Given the description of an element on the screen output the (x, y) to click on. 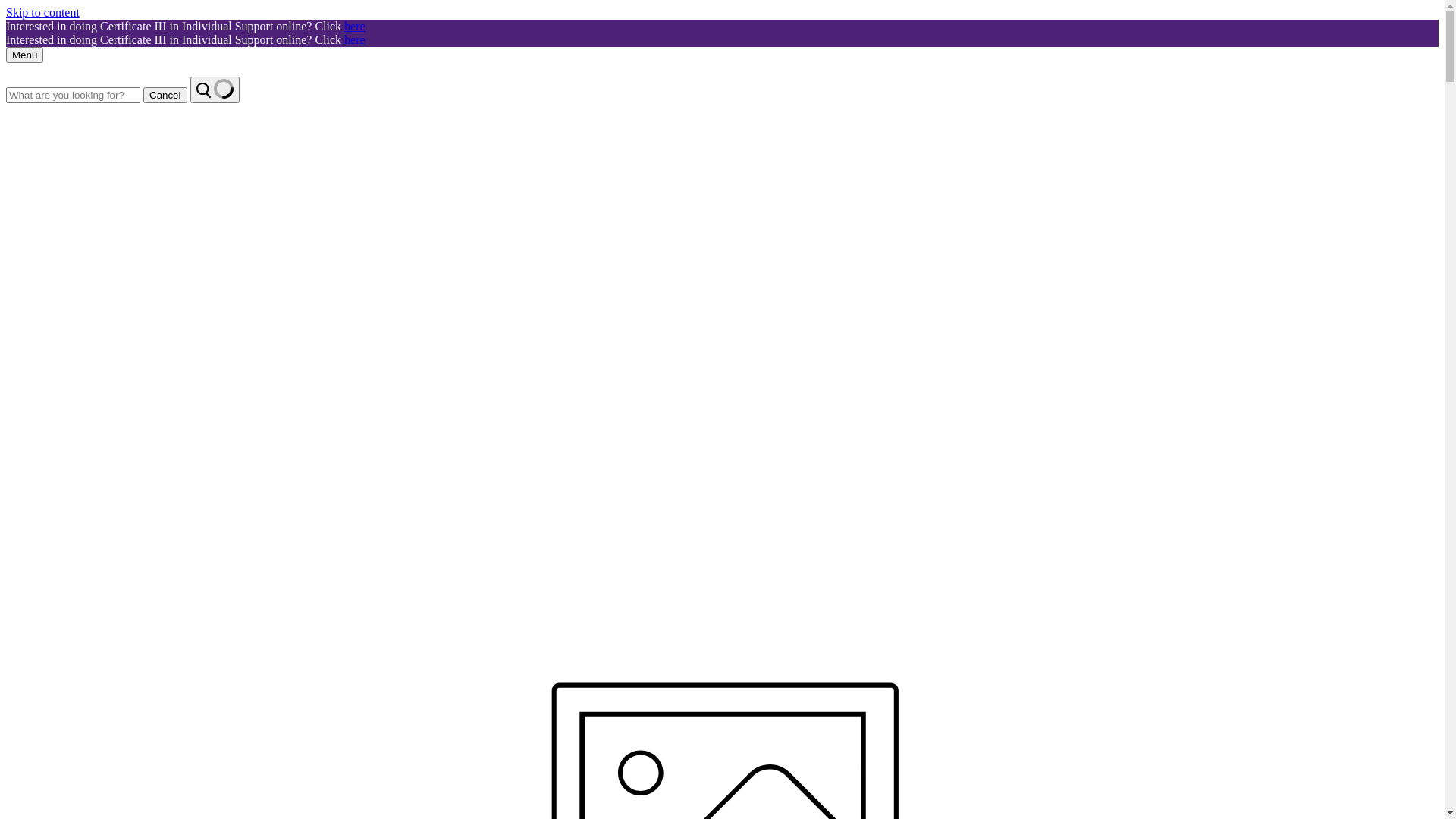
here Element type: text (354, 25)
here Element type: text (354, 39)
Skip to content Element type: text (42, 12)
Cancel Element type: text (165, 95)
Menu Element type: text (24, 54)
